Given the description of an element on the screen output the (x, y) to click on. 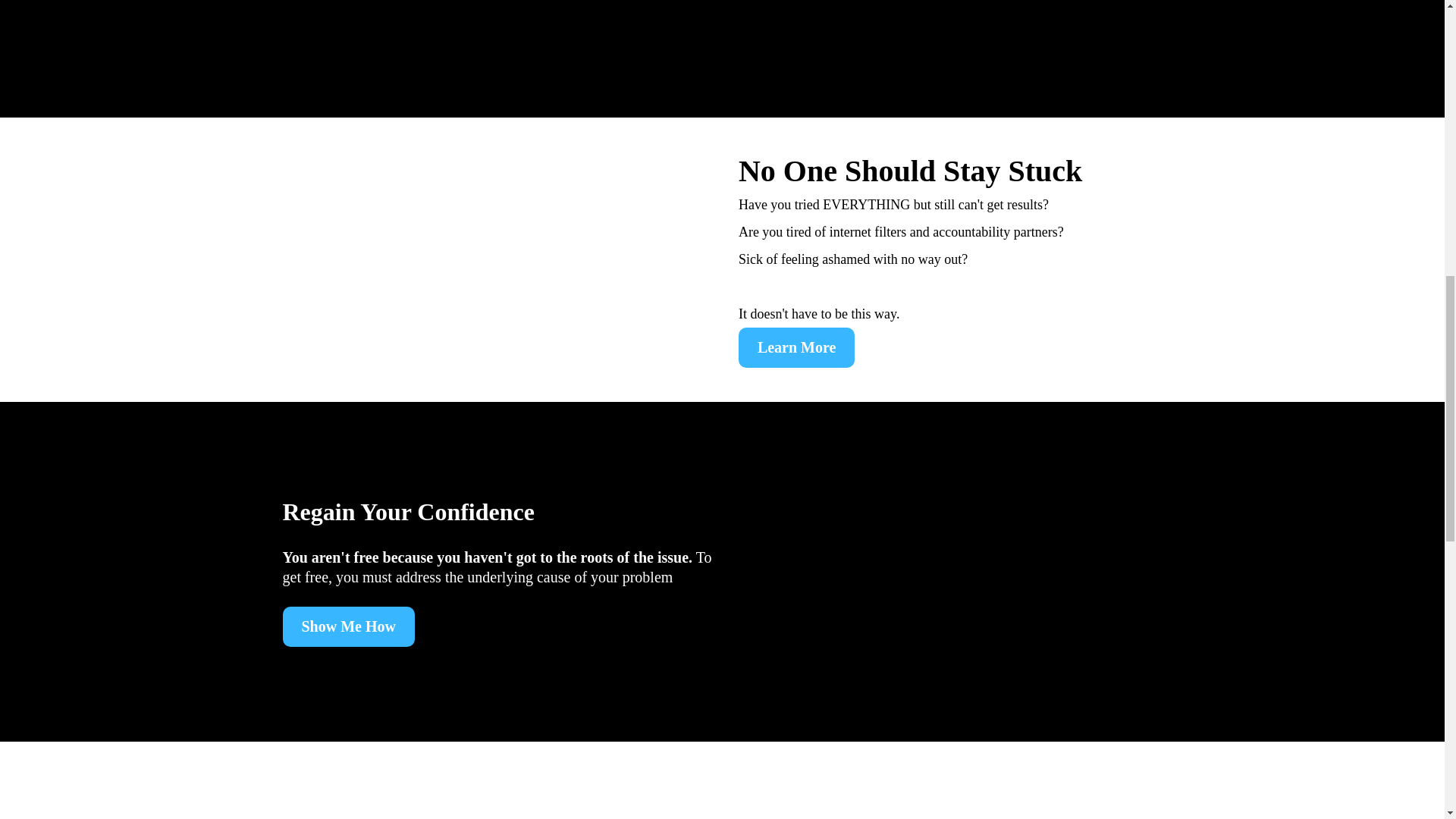
Learn More (797, 347)
Show Me How (347, 626)
